Given the description of an element on the screen output the (x, y) to click on. 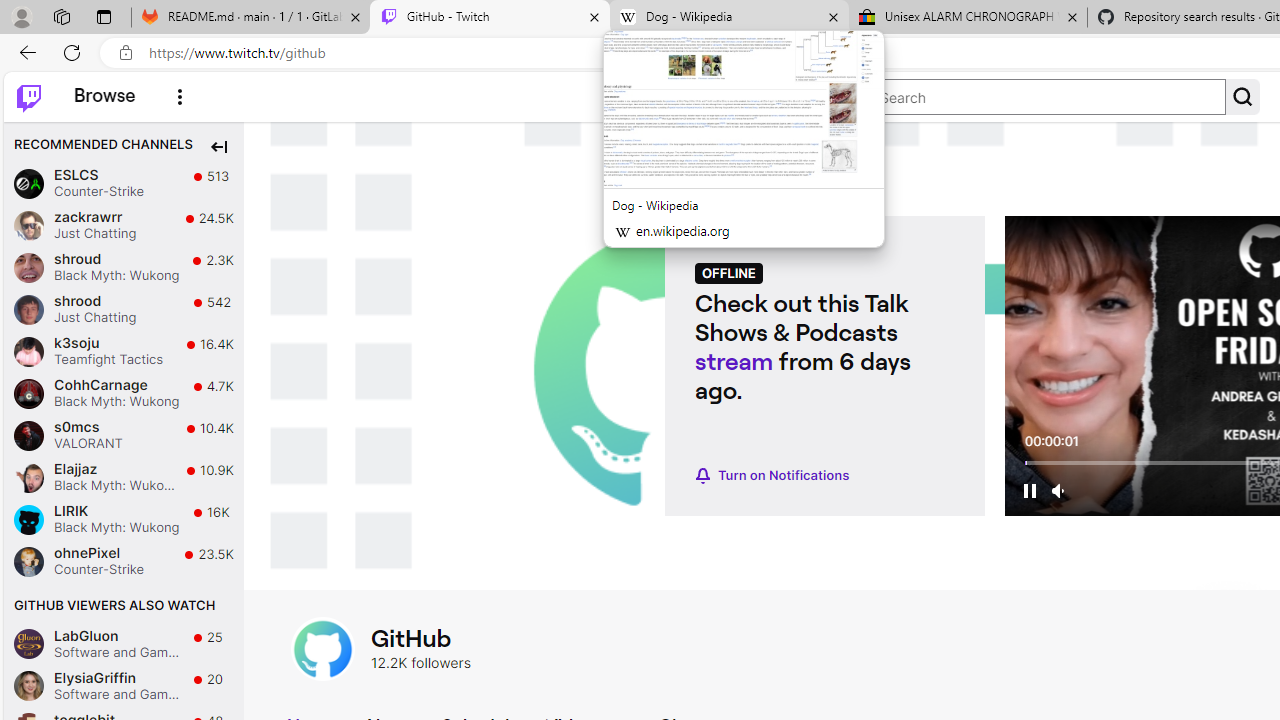
ohnePixel (28, 560)
GitHub (322, 648)
Collapse Side Nav (218, 146)
Search Input (1048, 97)
ohnePixel ohnePixel Counter-Strike Live 23.5K viewers (123, 561)
LabGluon (28, 644)
s0mcs s0mcs VALORANT Live 10.4K viewers (123, 435)
ElysiaGriffin (28, 686)
Twitch Home (28, 96)
shrood shrood Just Chatting Live 542 viewers (123, 309)
